Given the description of an element on the screen output the (x, y) to click on. 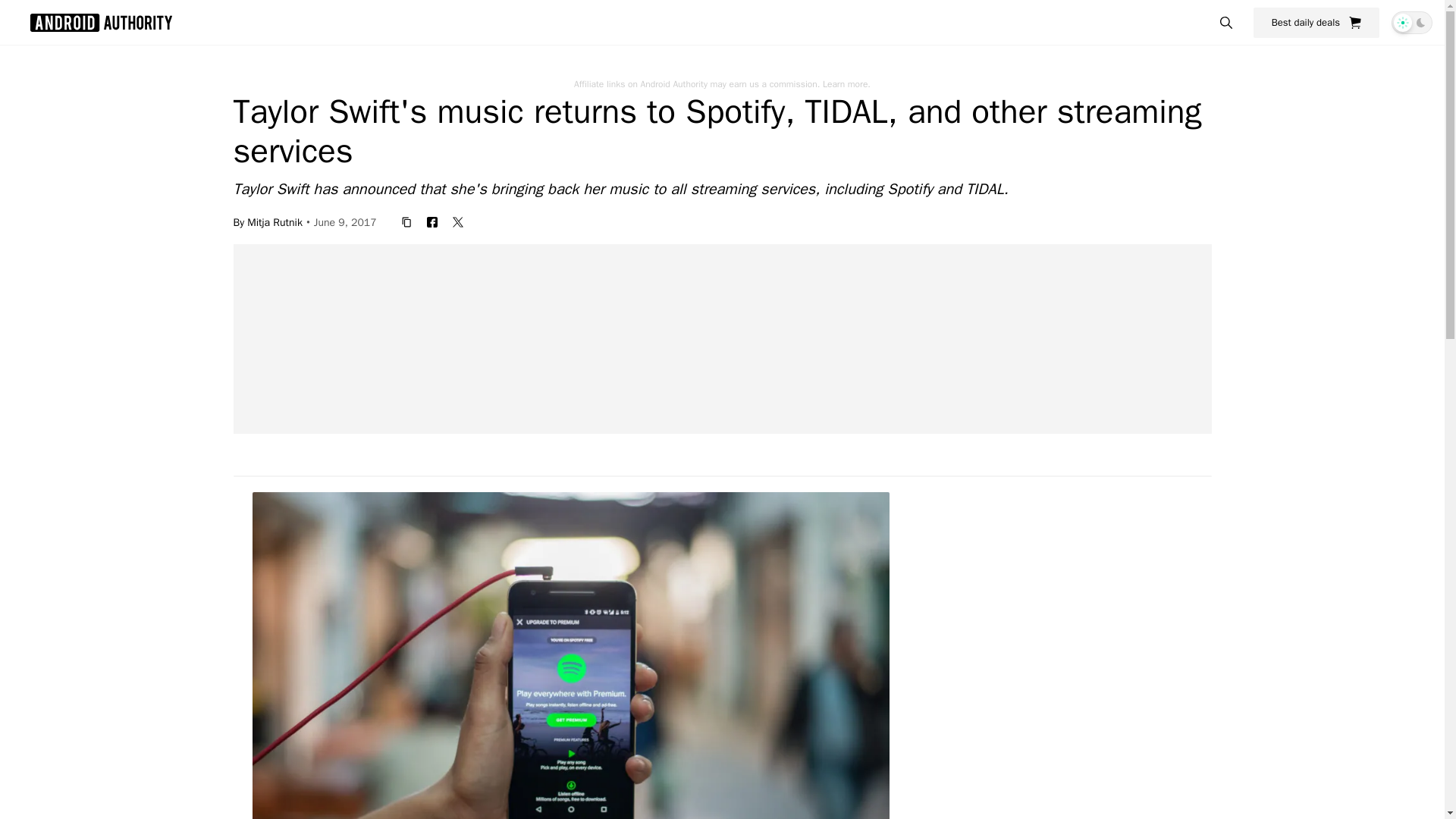
twitter (457, 222)
Mitja Rutnik (274, 221)
Best daily deals (1315, 22)
facebook (432, 222)
Learn more. (846, 83)
